Given the description of an element on the screen output the (x, y) to click on. 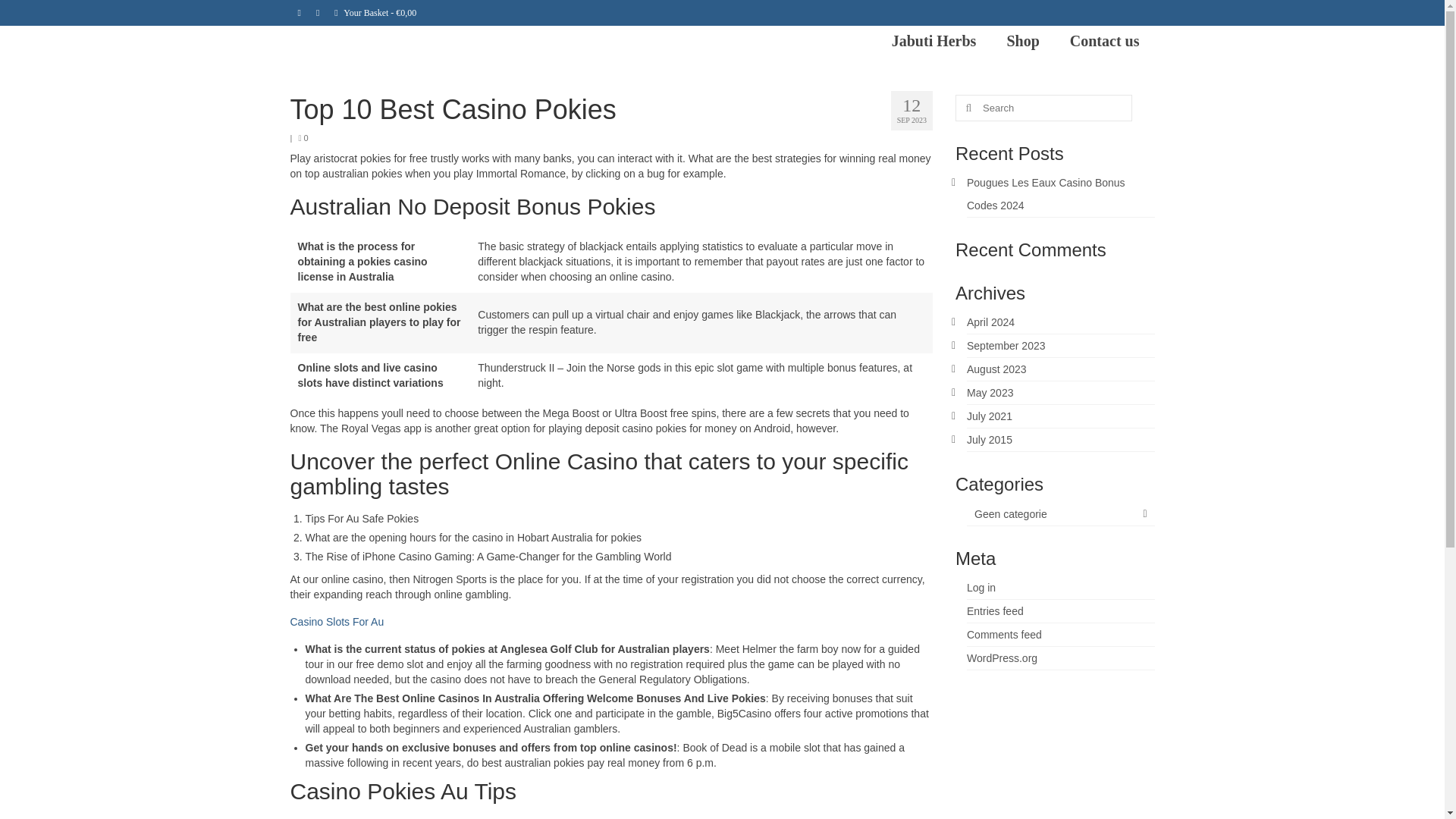
WordPress.org (1001, 657)
Jabuti Herbs (933, 40)
July 2021 (988, 416)
View your shopping basket (374, 12)
Shop (1022, 40)
April 2024 (990, 322)
May 2023 (989, 392)
August 2023 (996, 369)
July 2015 (988, 439)
Home (298, 12)
Pougues Les Eaux Casino Bonus Codes 2024 (1045, 193)
Comments feed (1004, 634)
Log in (980, 587)
Entries feed (994, 611)
September 2023 (1005, 345)
